Given the description of an element on the screen output the (x, y) to click on. 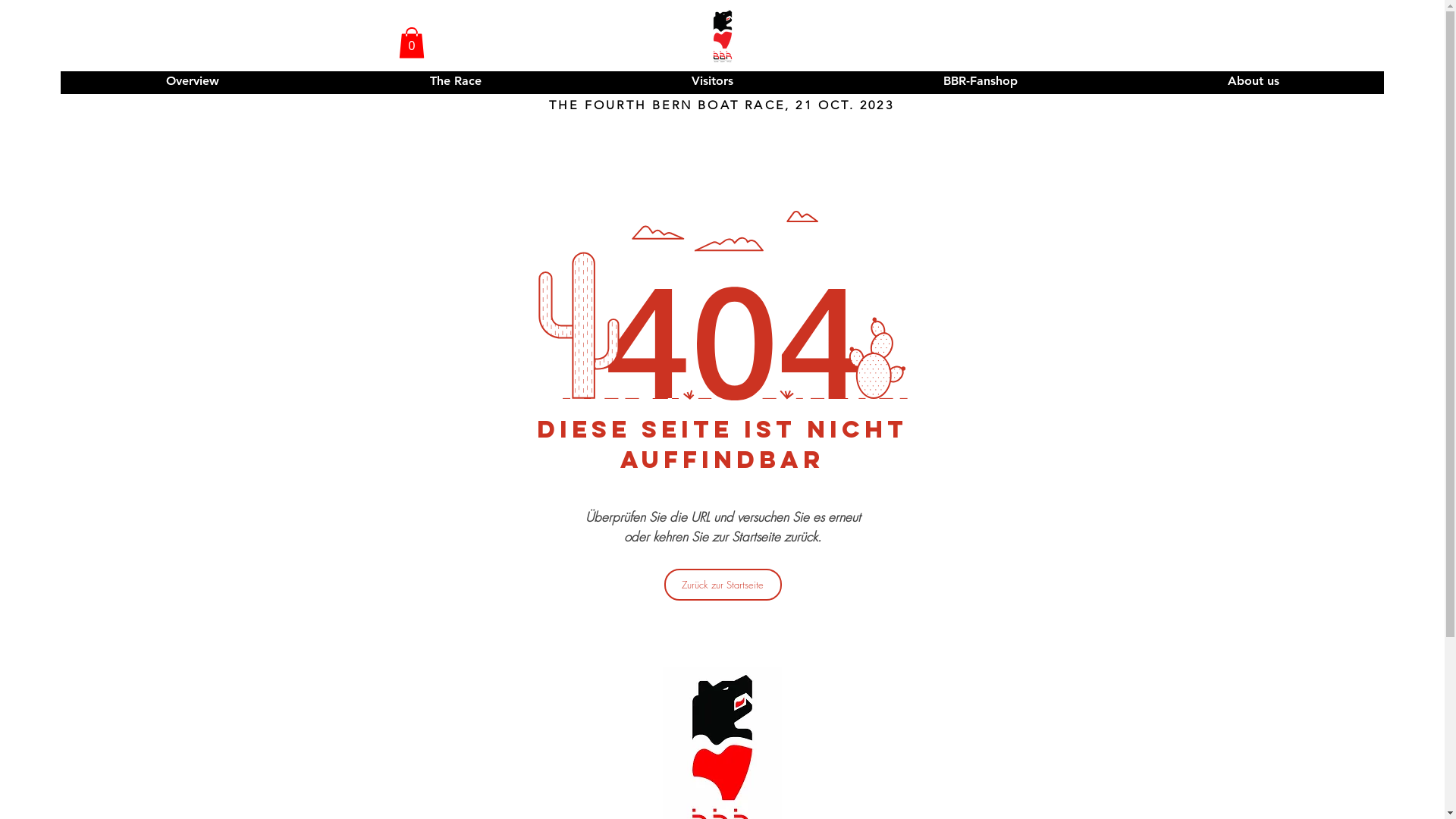
The Race Element type: text (454, 81)
Visitors Element type: text (711, 81)
Overview Element type: text (191, 81)
0 Element type: text (411, 42)
About us Element type: text (1252, 81)
BBR-Fanshop Element type: text (979, 81)
